Given the description of an element on the screen output the (x, y) to click on. 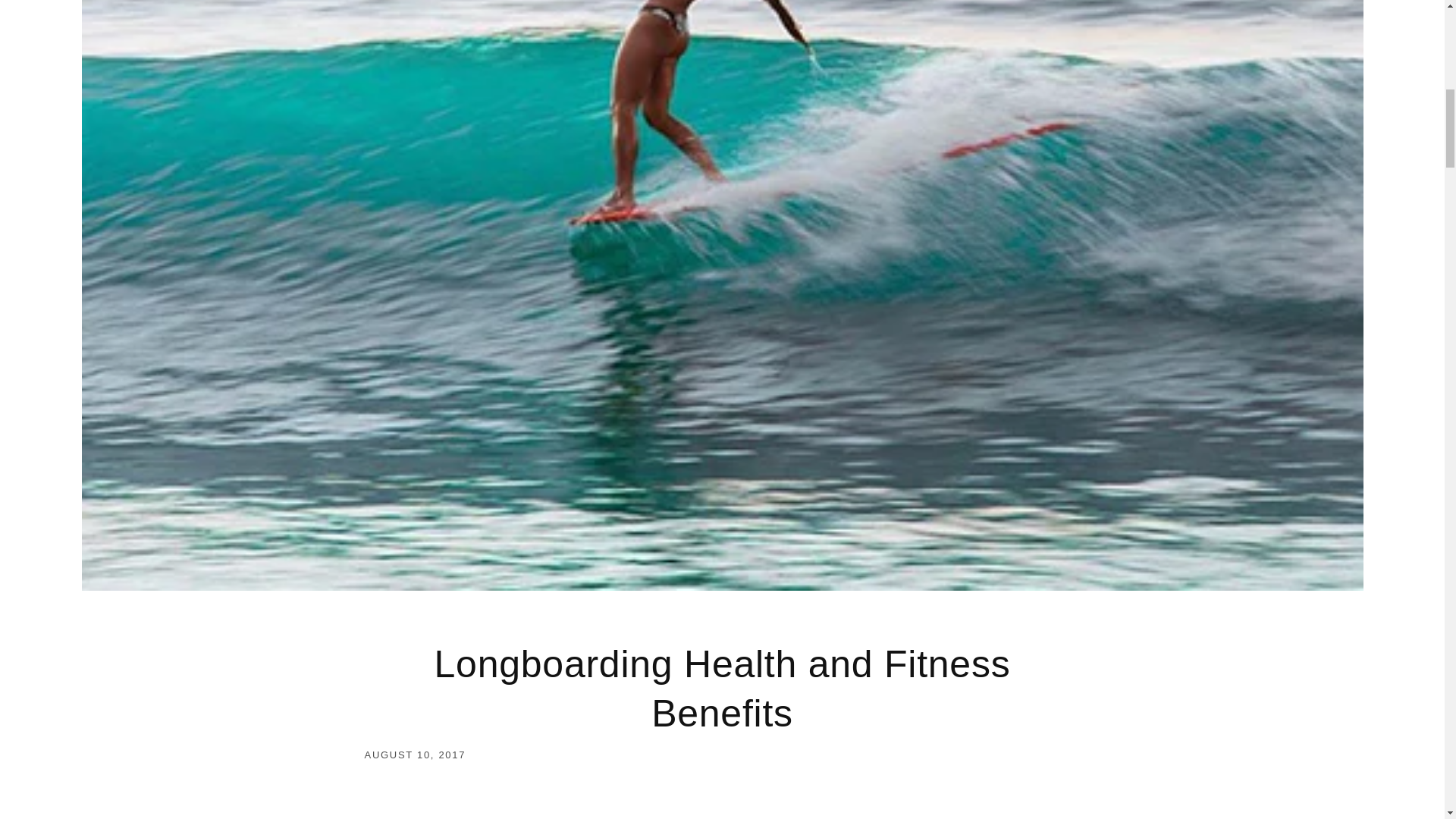
Share (722, 699)
